Given the description of an element on the screen output the (x, y) to click on. 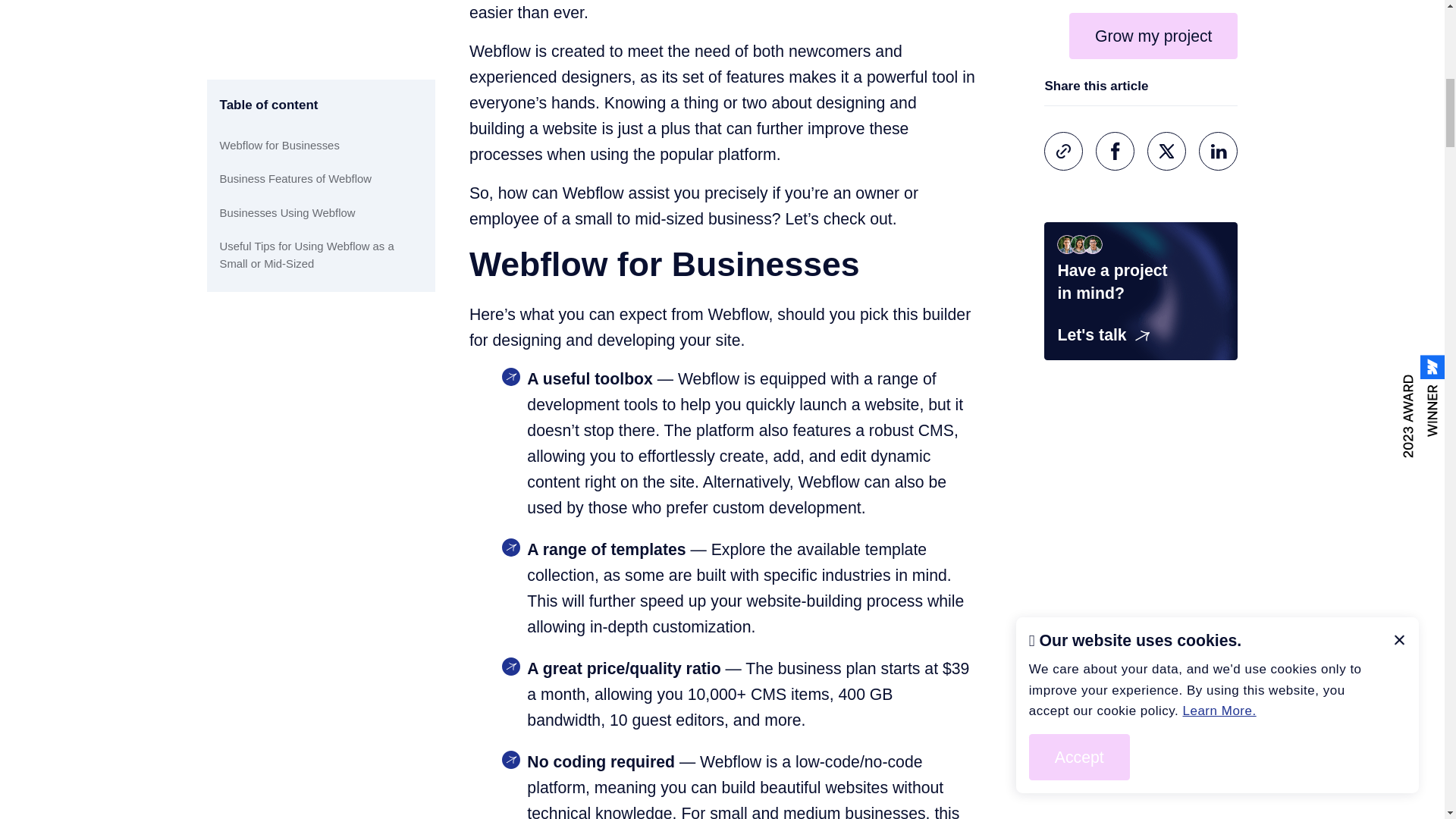
Useful Tips for Using Webflow as a Small or Mid-Sized (321, 13)
